Given the description of an element on the screen output the (x, y) to click on. 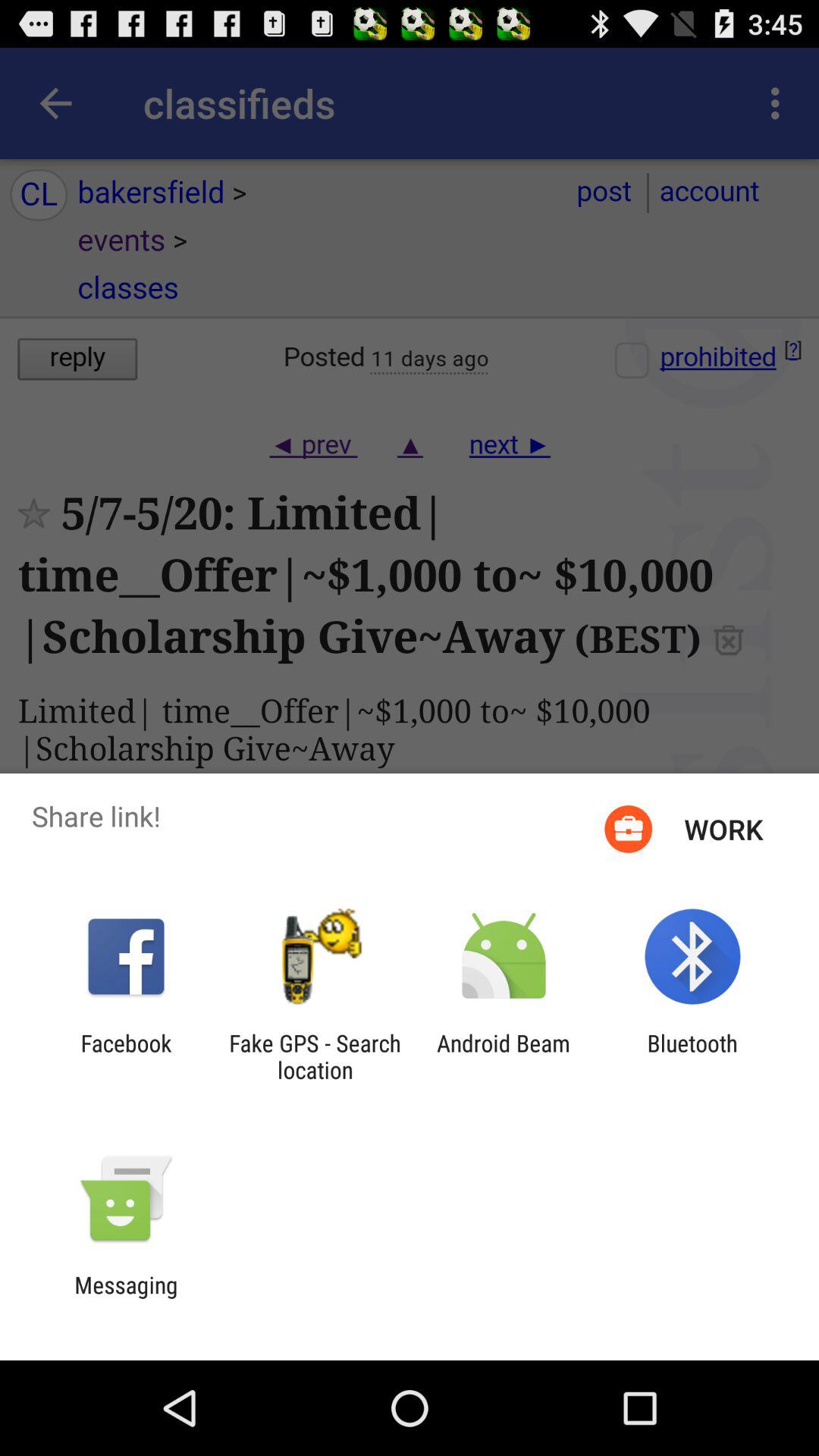
swipe until the facebook app (125, 1056)
